Given the description of an element on the screen output the (x, y) to click on. 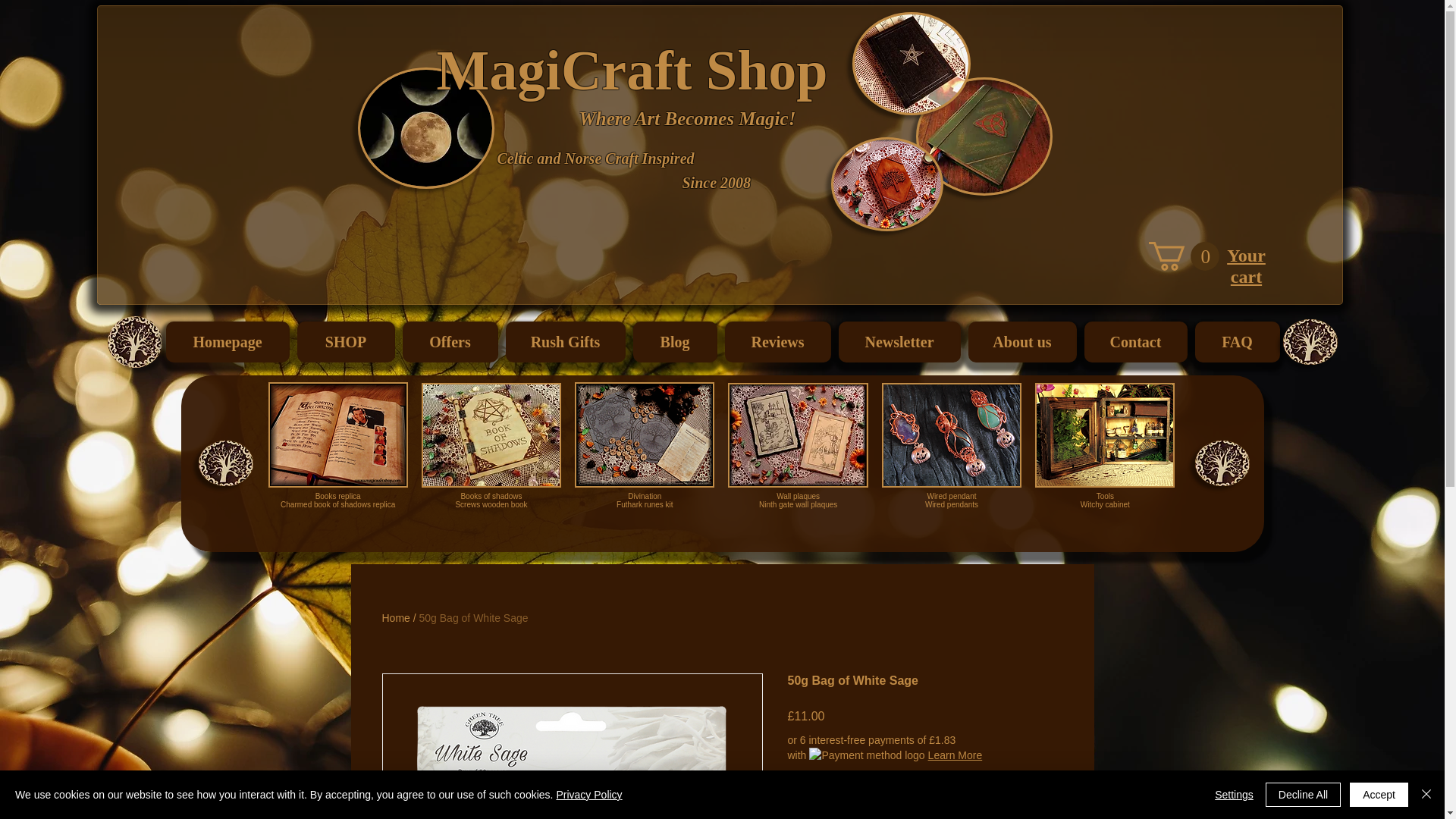
Wooden three of life (134, 341)
Wooden three of life (225, 463)
0 (1183, 255)
Home (395, 617)
Wooden three of life (1310, 341)
Rush Gifts (564, 341)
Wooden three of life (952, 453)
Offers (1222, 463)
